Given the description of an element on the screen output the (x, y) to click on. 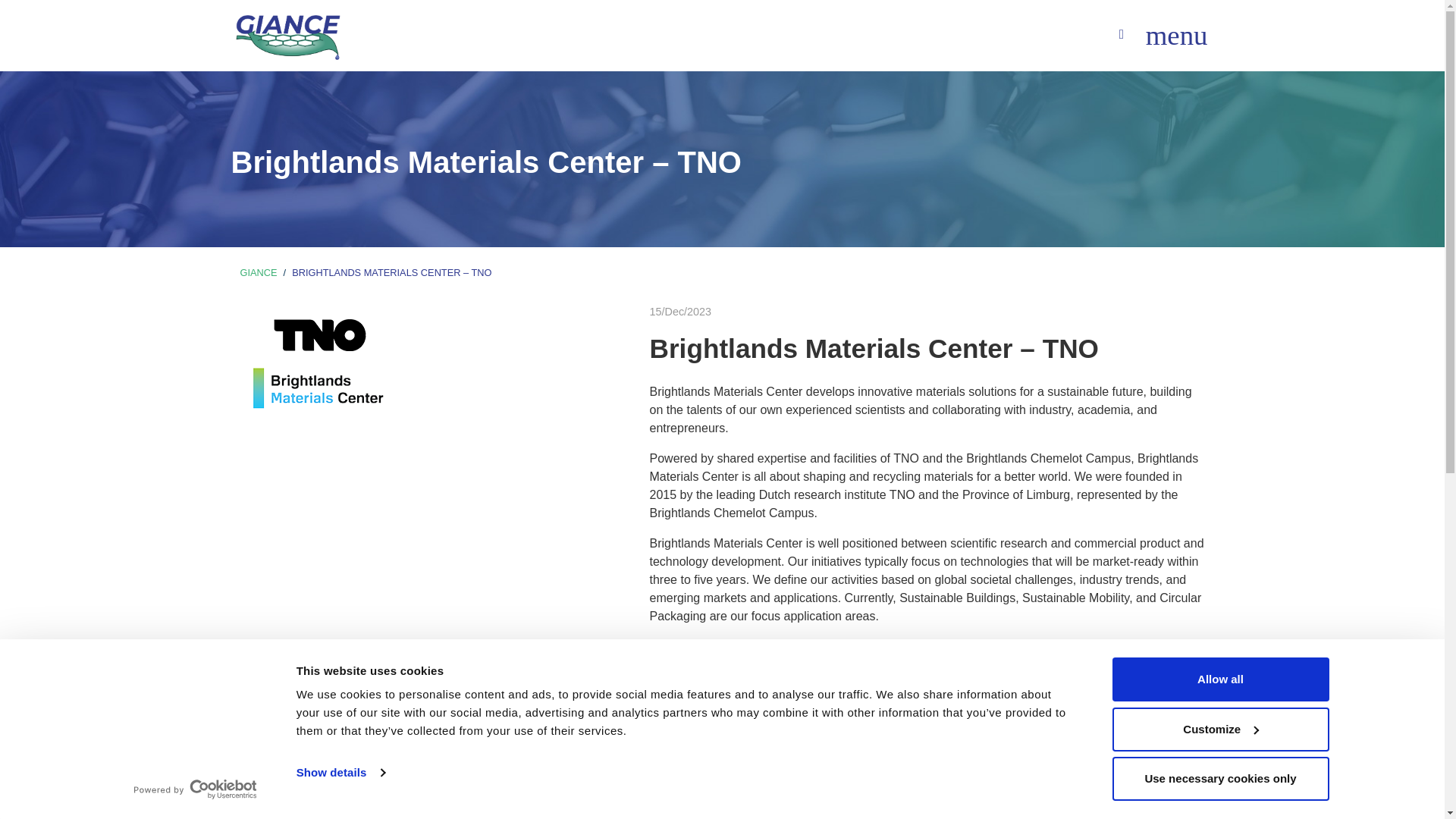
Customize (1219, 728)
Allow all (1219, 679)
Go to GIANCE. (258, 272)
Use necessary cookies only (1219, 778)
Show details (340, 772)
menu (1177, 35)
